Given the description of an element on the screen output the (x, y) to click on. 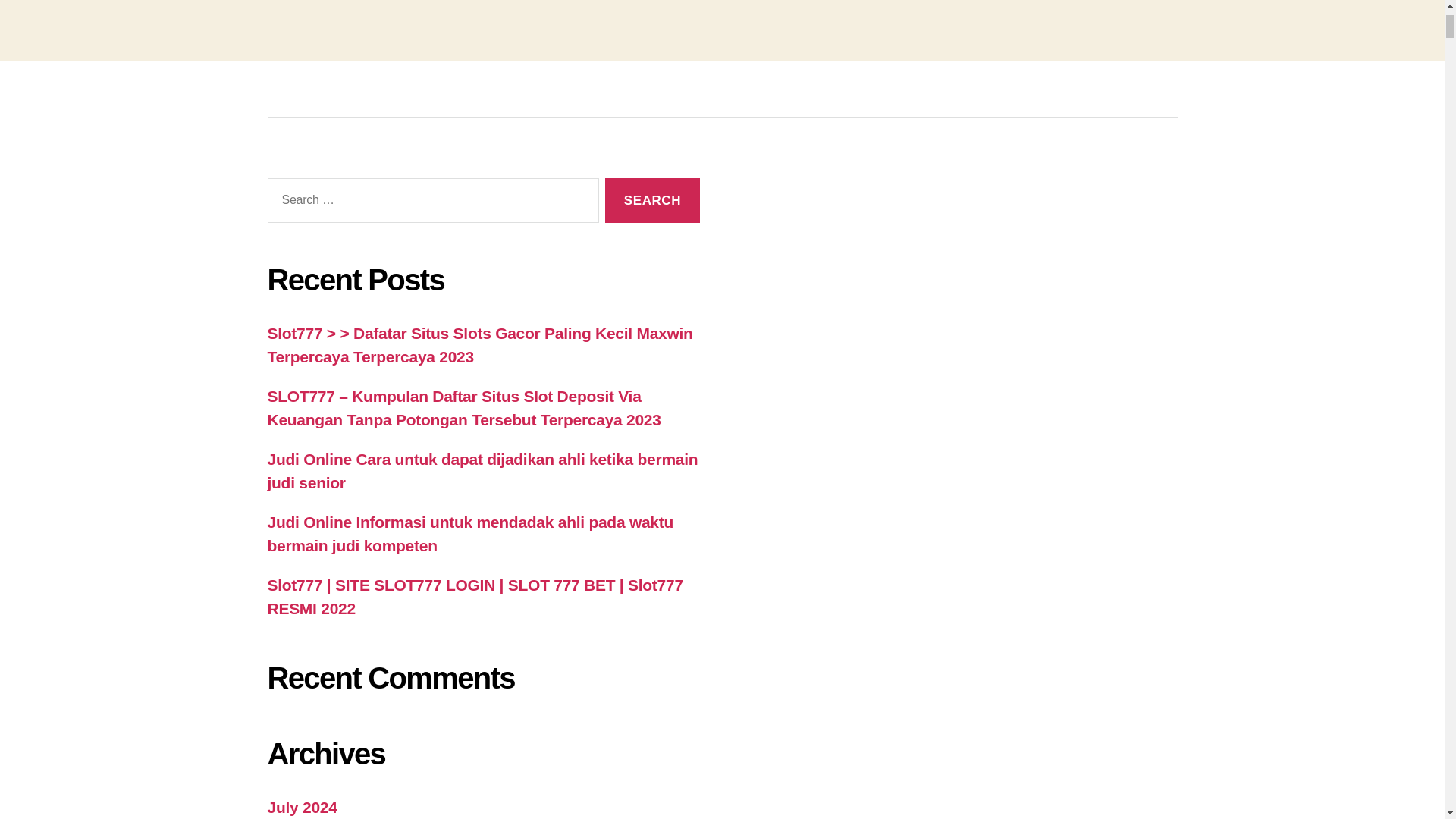
Search (651, 200)
Search (651, 200)
Search (651, 200)
July 2024 (301, 806)
